Given the description of an element on the screen output the (x, y) to click on. 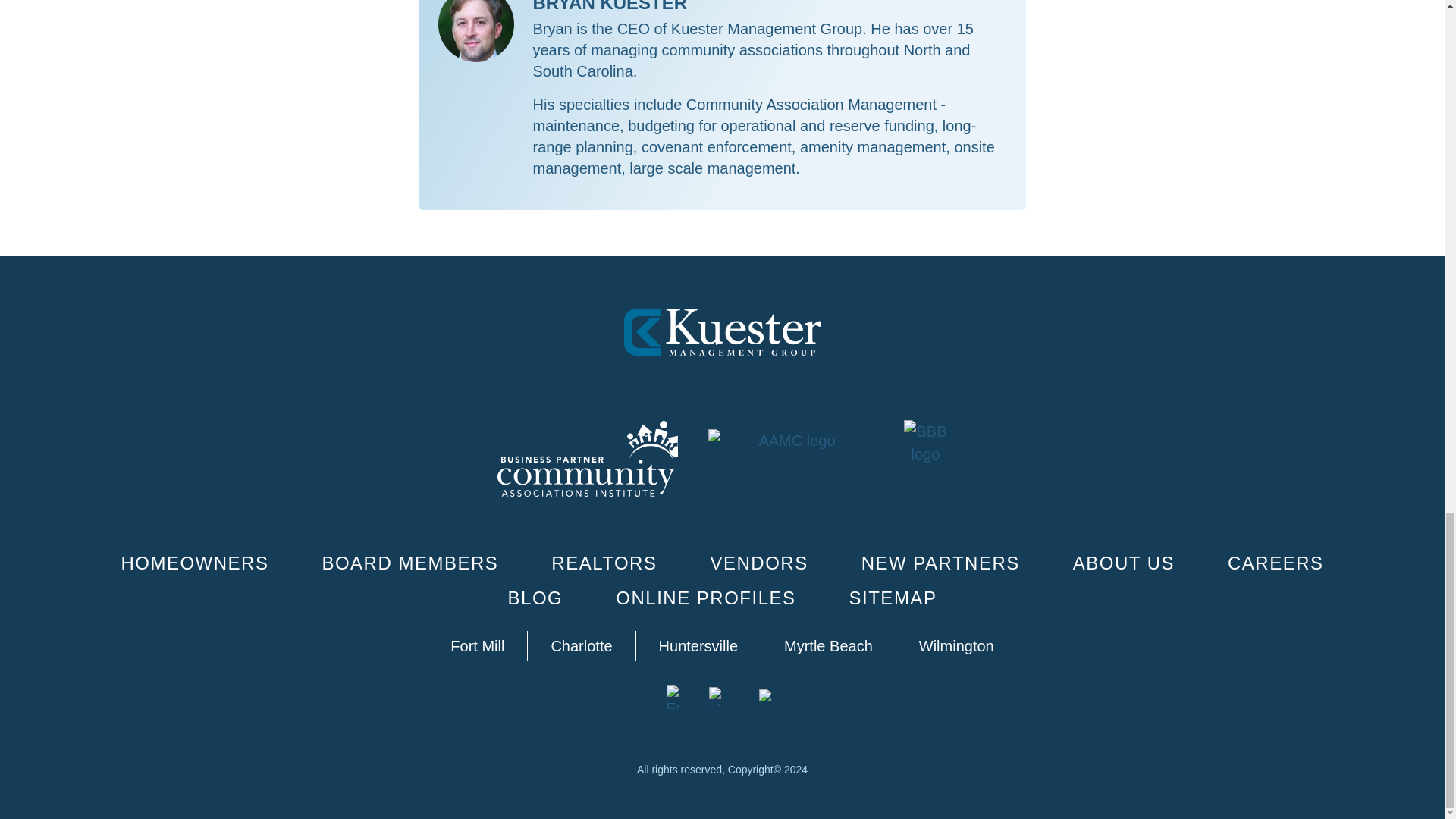
BOARD MEMBERS (409, 563)
ONLINE PROFILES (705, 597)
BLOG (535, 597)
SITEMAP (892, 597)
REALTORS (603, 563)
ABOUT US (1123, 563)
HOMEOWNERS (194, 563)
NEW PARTNERS (940, 563)
CAREERS (1276, 563)
Fort Mill (477, 645)
